Given the description of an element on the screen output the (x, y) to click on. 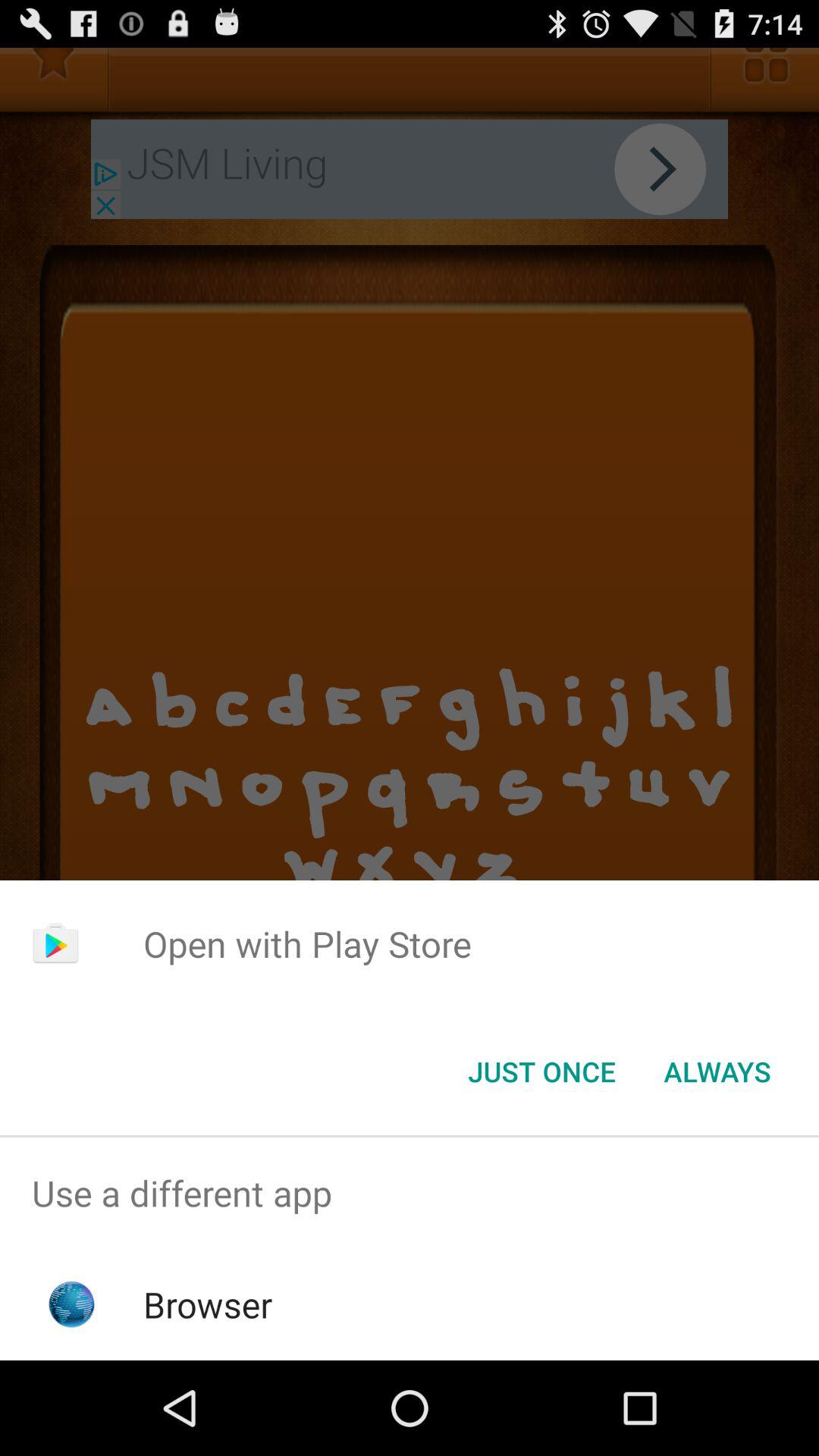
tap item below open with play app (717, 1071)
